Given the description of an element on the screen output the (x, y) to click on. 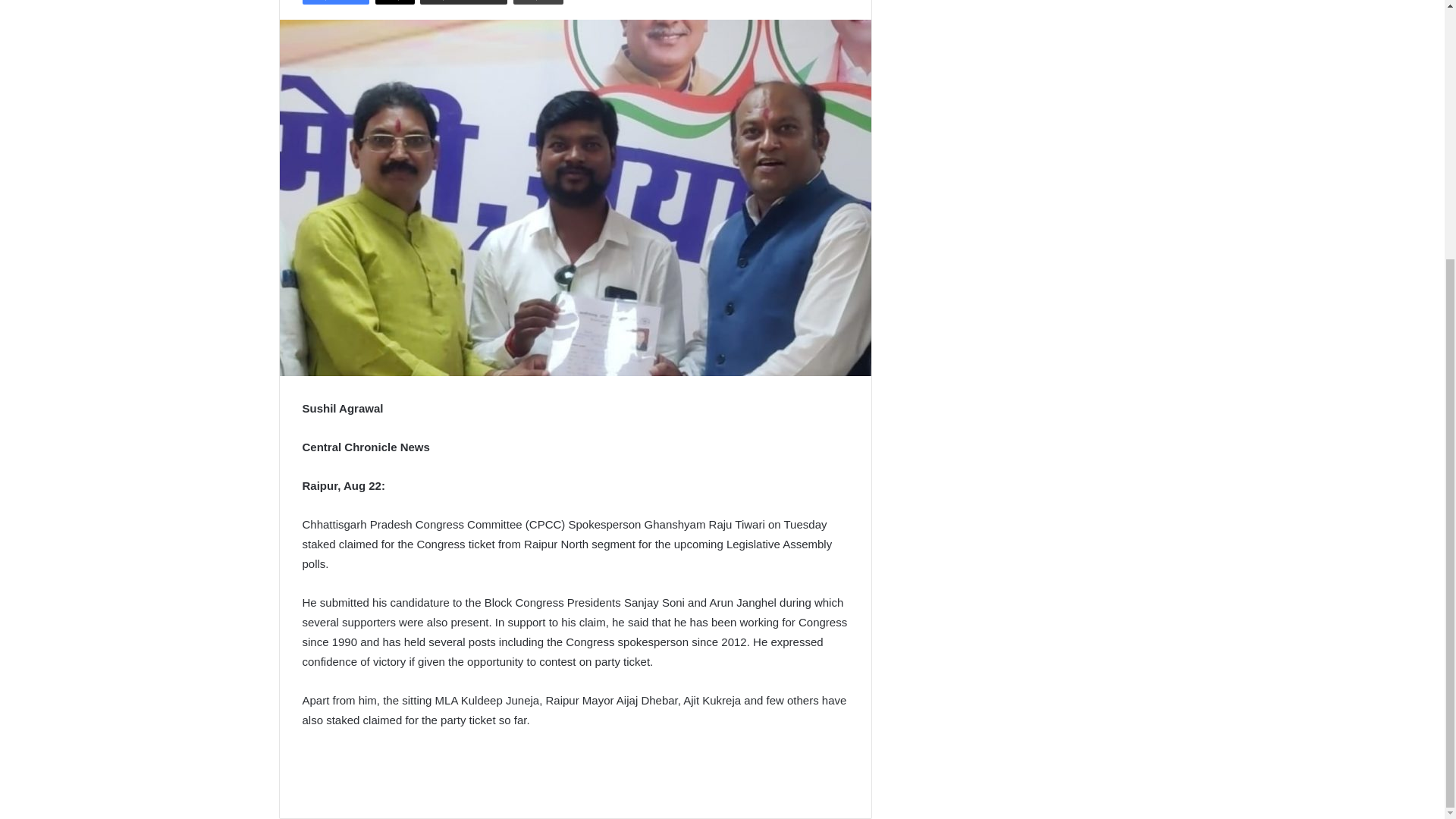
Facebook (335, 2)
X (394, 2)
Share via Email (463, 2)
Print (538, 2)
